Given the description of an element on the screen output the (x, y) to click on. 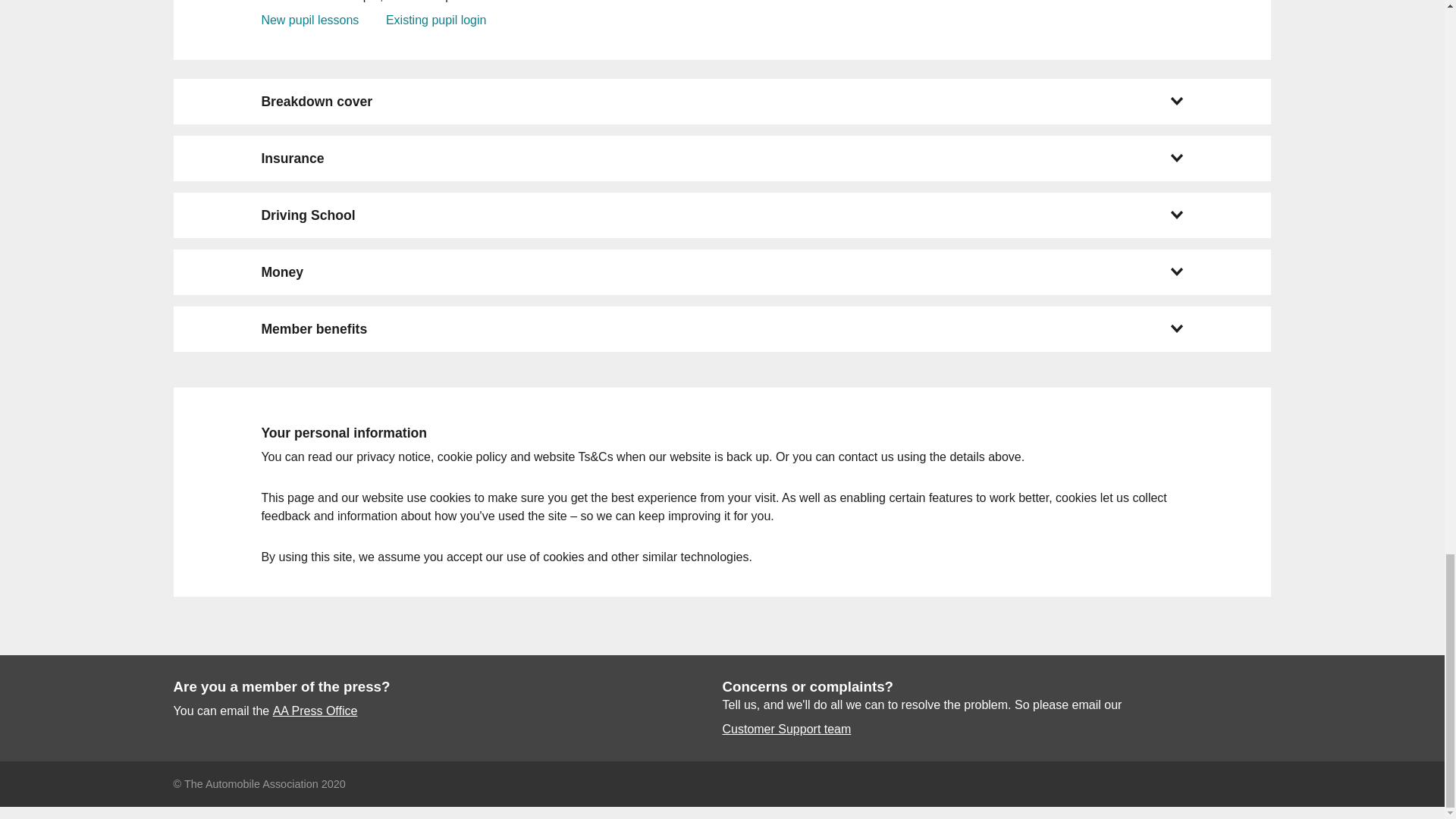
Customer Support team (786, 729)
New pupil lessons (309, 20)
Existing pupil login (435, 20)
AA Press Office (315, 710)
